Given the description of an element on the screen output the (x, y) to click on. 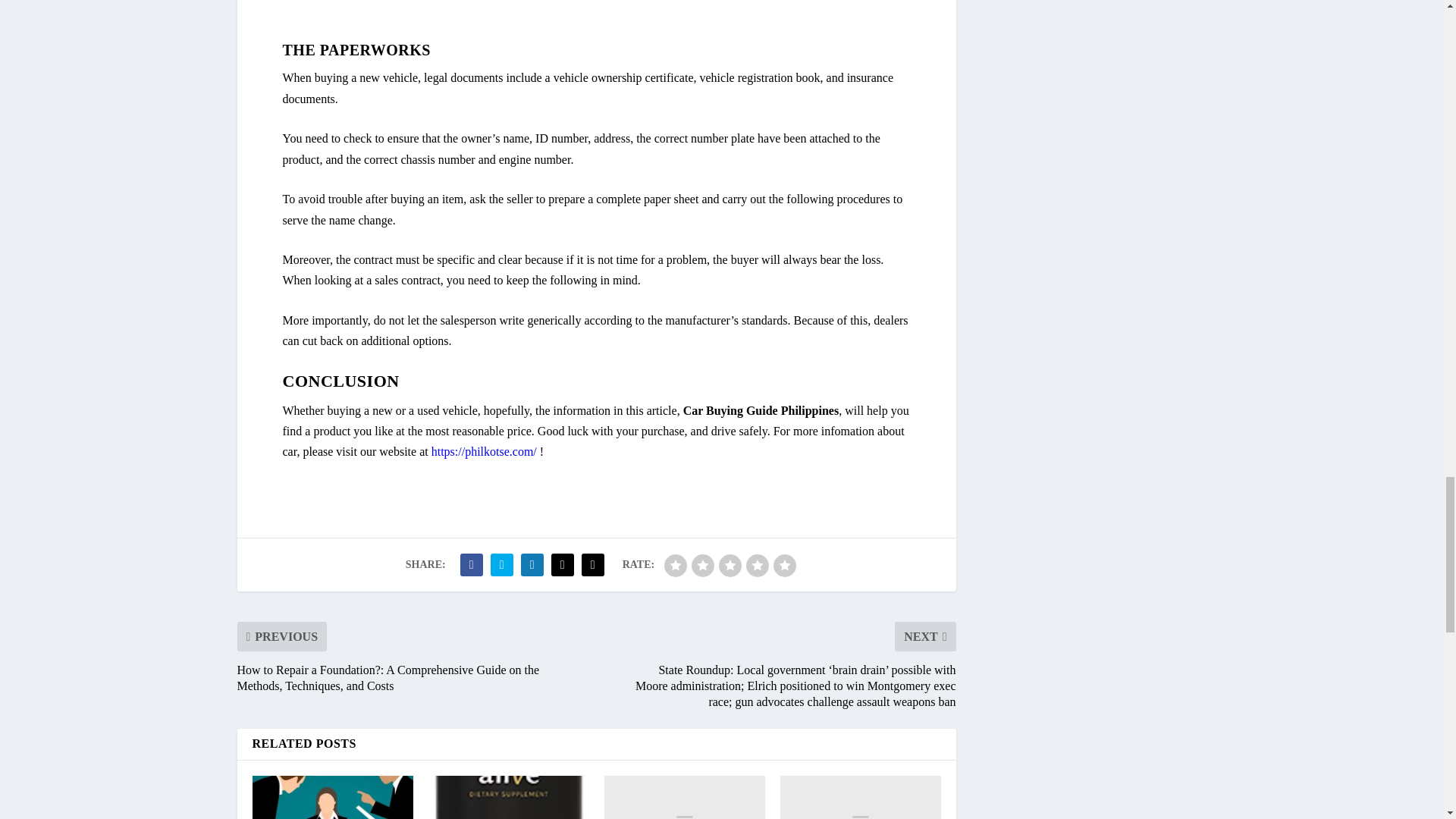
good (756, 565)
poor (702, 565)
gorgeous (784, 565)
regular (730, 565)
Buying and selling car website (483, 451)
bad (675, 565)
